Given the description of an element on the screen output the (x, y) to click on. 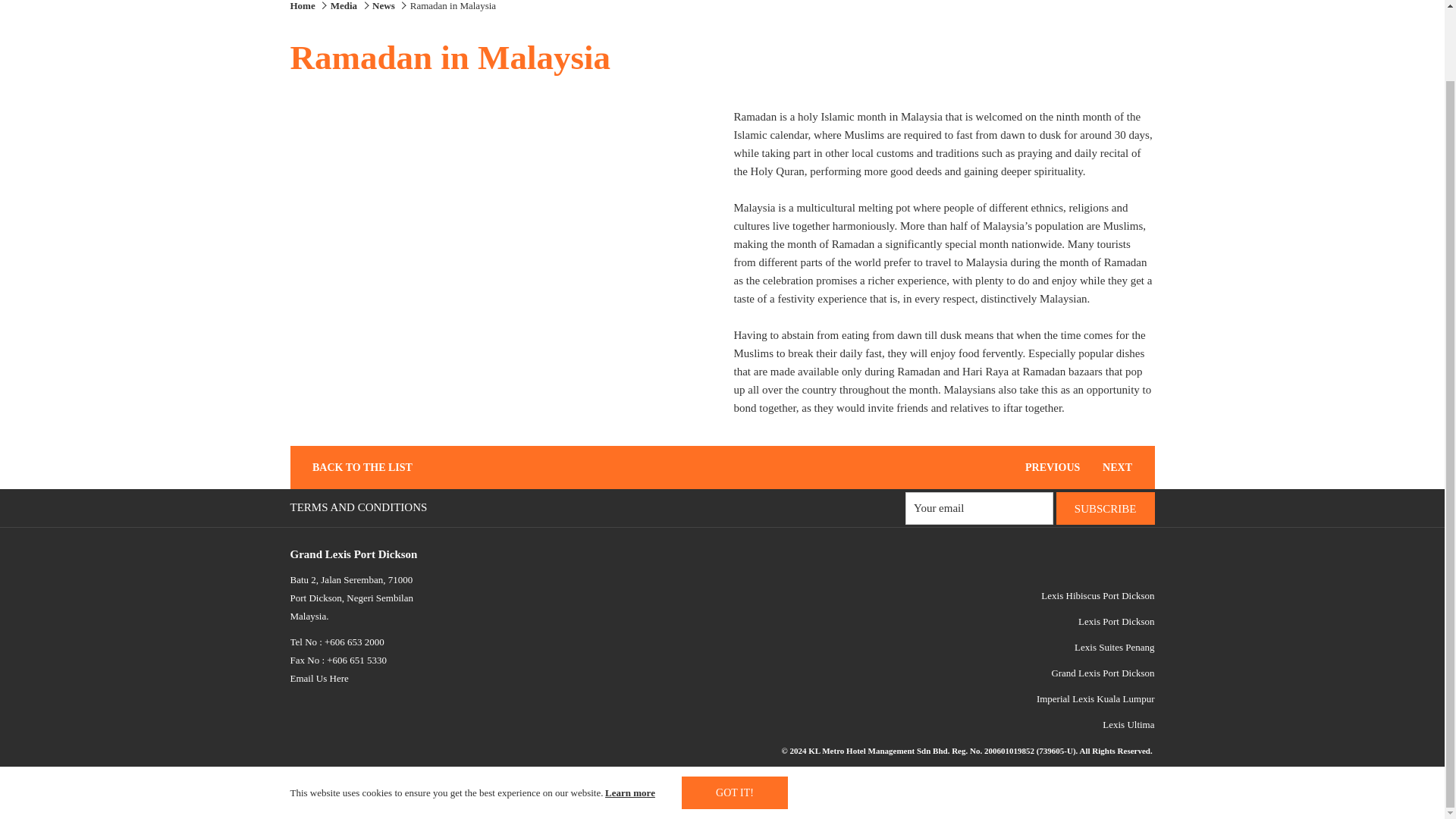
Lexis Ultima (1128, 724)
Grand Lexis Port Dickson (1102, 672)
Home (301, 5)
Email Us Here (318, 677)
Media (343, 5)
NEXT (1123, 467)
PORT DICKSON WEATHER (781, 776)
Learn more (631, 713)
Ramadan in Malaysia (453, 5)
Imperial Lexis Kuala Lumpur (1095, 698)
